Given the description of an element on the screen output the (x, y) to click on. 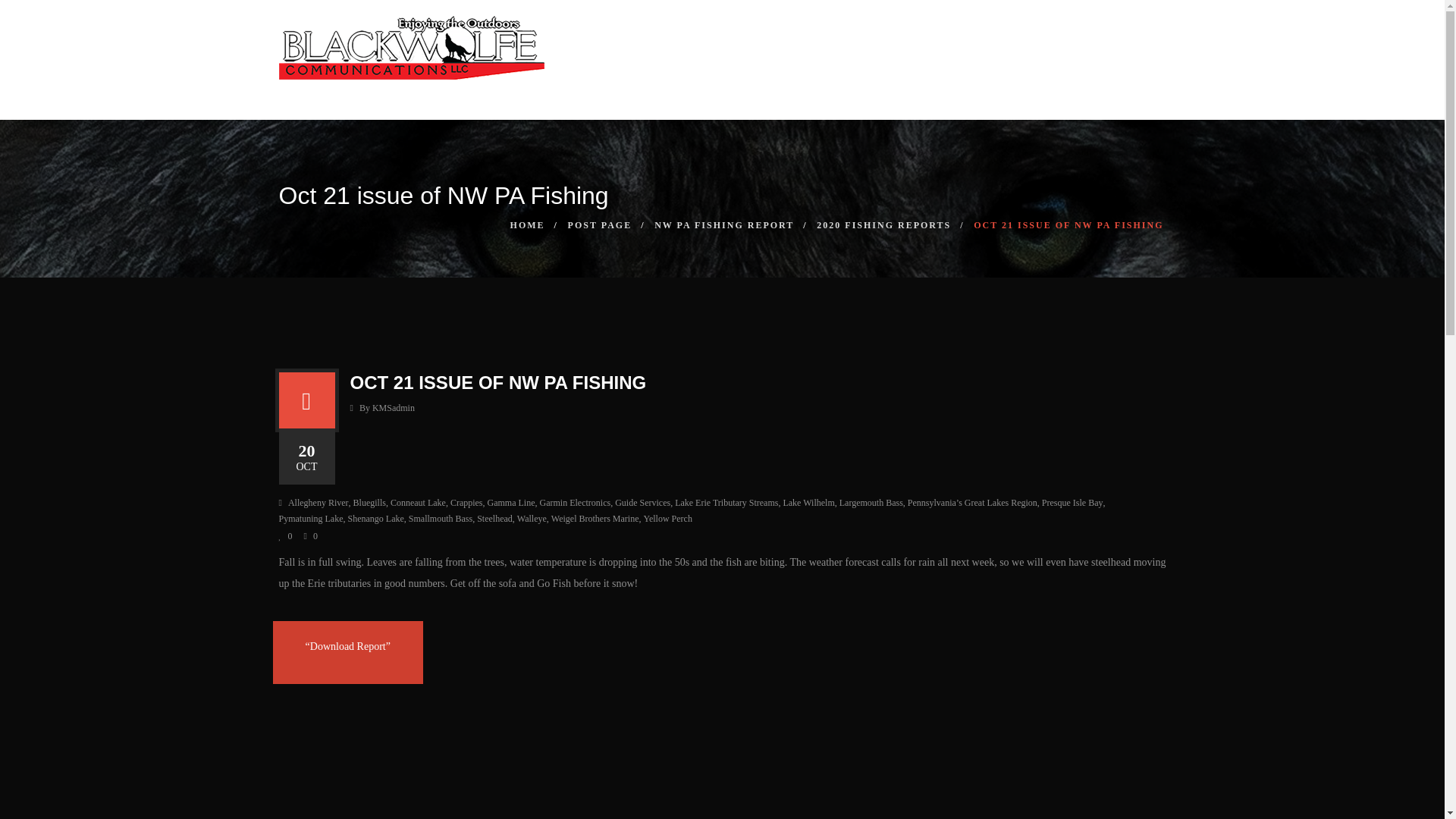
Garmin Electronics (575, 503)
Shenango Lake (375, 519)
Walleye (531, 519)
Steelhead (494, 519)
NW PA FISHING REPORT (723, 225)
Smallmouth Bass (440, 519)
Gamma Line (511, 503)
2020 FISHING REPORTS (883, 225)
Weigel Brothers Marine (595, 519)
Presque Isle Bay (1072, 503)
Crappies (466, 503)
Lake Wilhelm (808, 503)
Bluegills (369, 503)
ABOUT US (817, 93)
Allegheny River (318, 503)
